Given the description of an element on the screen output the (x, y) to click on. 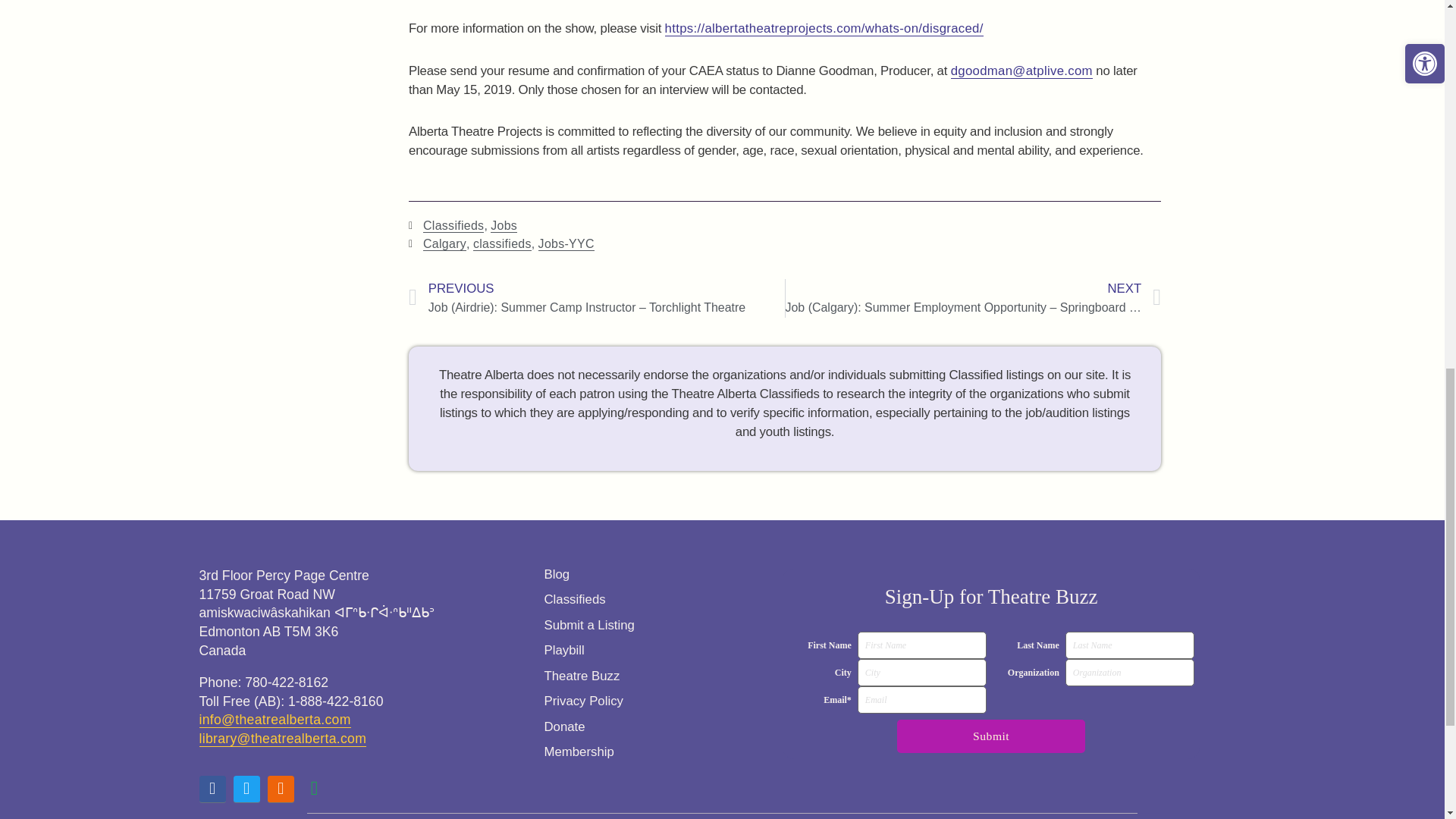
Submit (990, 735)
